Given the description of an element on the screen output the (x, y) to click on. 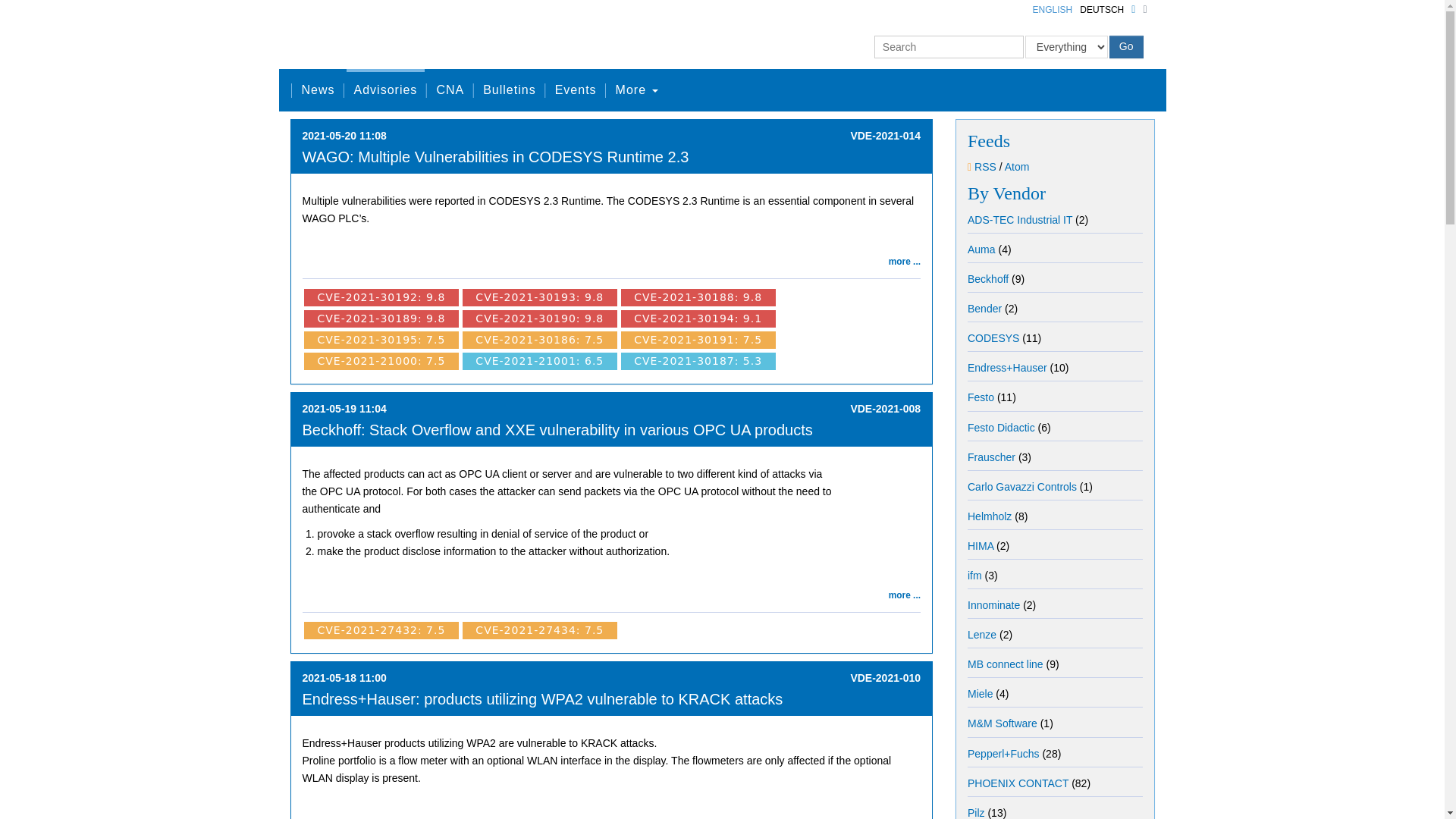
WAGO: Multiple Vulnerabilities in CODESYS Runtime 2.3 (494, 156)
CVE-2021-30193: 9.8 (540, 297)
CVE-2021-30186: 7.5 (540, 339)
Bulletins (509, 89)
CVE-2021-30195: 7.5 (381, 339)
CVE-2021-30191: 7.5 (697, 339)
CVE-2021-21000: 7.5 (381, 360)
CVE-2021-30192: 9.8 (381, 297)
ENGLISH (1053, 9)
CVE-2021-21001: 6.5 (540, 360)
News (318, 89)
More (636, 89)
Events (575, 89)
Go (1125, 47)
CVE-2021-30189: 9.8 (381, 318)
